Given the description of an element on the screen output the (x, y) to click on. 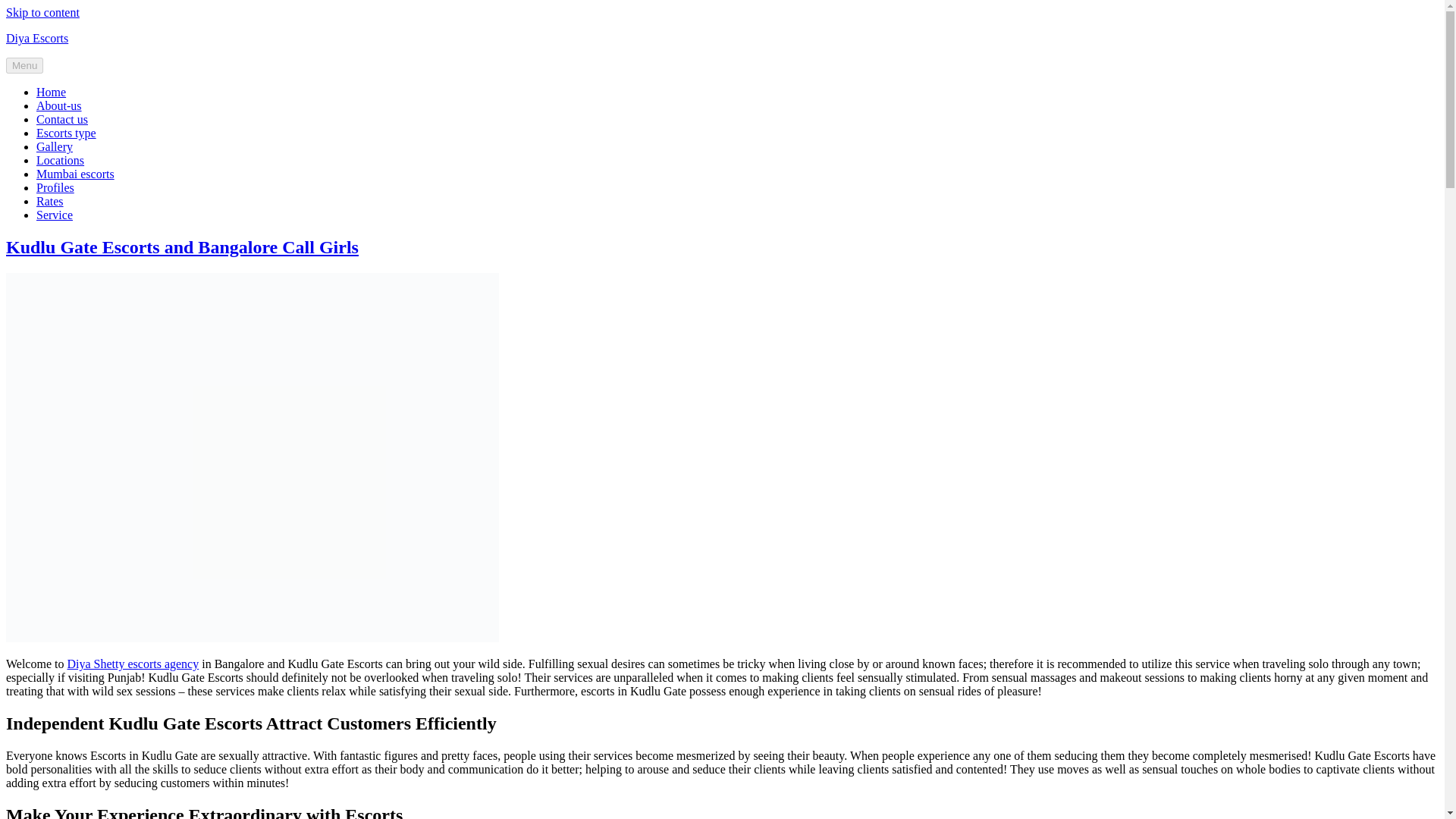
Diya Shetty escorts agency (132, 663)
Contact us (61, 119)
Skip to content (42, 11)
Menu (24, 65)
Gallery (54, 146)
Home (50, 91)
Profiles (55, 187)
Escorts type (66, 132)
Locations (60, 160)
Kudlu Gate Escorts and Bangalore Call Girls (181, 247)
Rates (50, 201)
Mumbai escorts (75, 173)
Diya Escorts (36, 38)
About-us (58, 105)
